Given the description of an element on the screen output the (x, y) to click on. 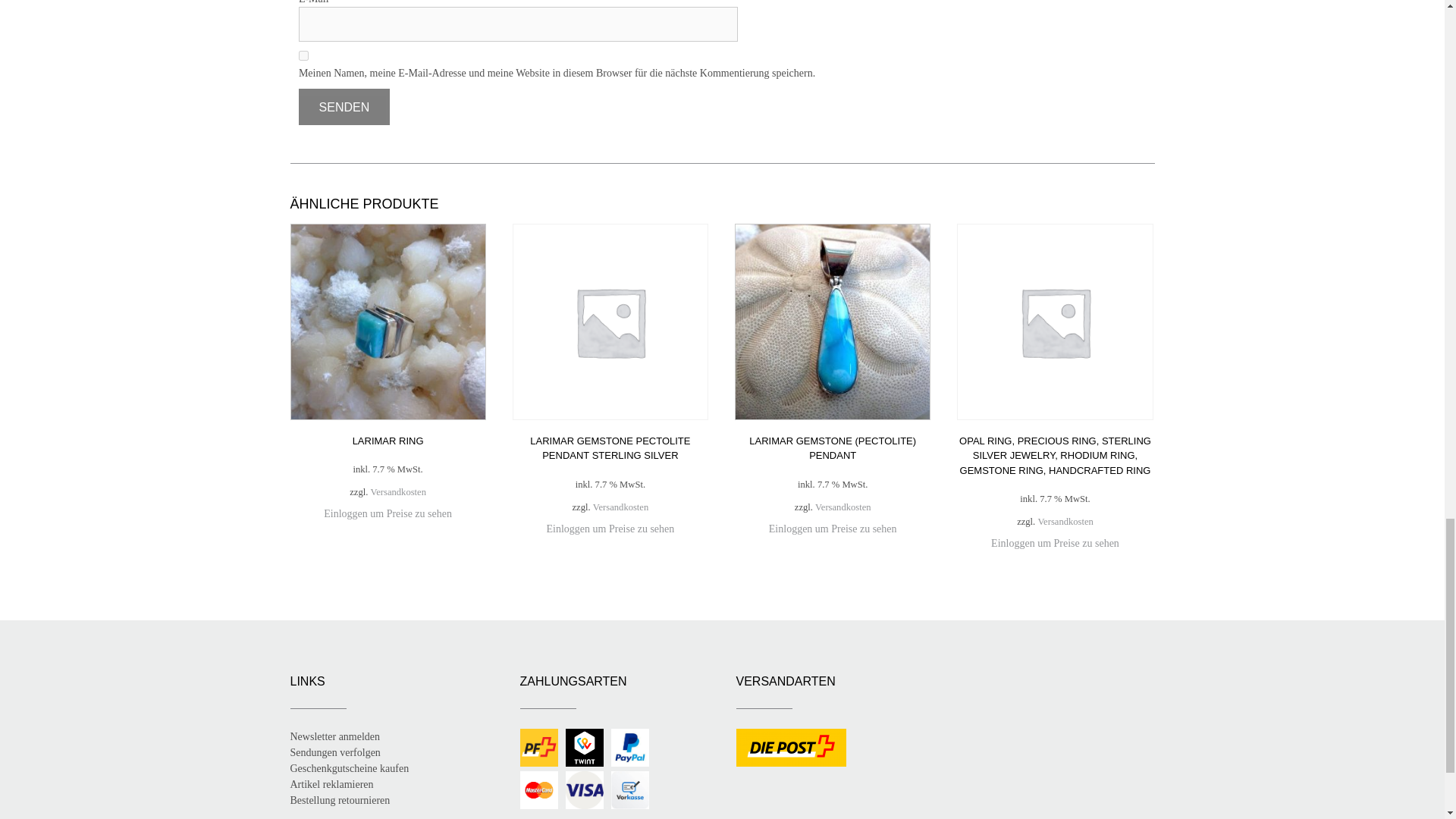
Einloggen um Preise zu sehen (611, 528)
Versandkosten (398, 492)
yes (303, 55)
Senden (344, 106)
Versandkosten (619, 507)
Senden (344, 106)
Einloggen um Preise zu sehen (387, 513)
